Given the description of an element on the screen output the (x, y) to click on. 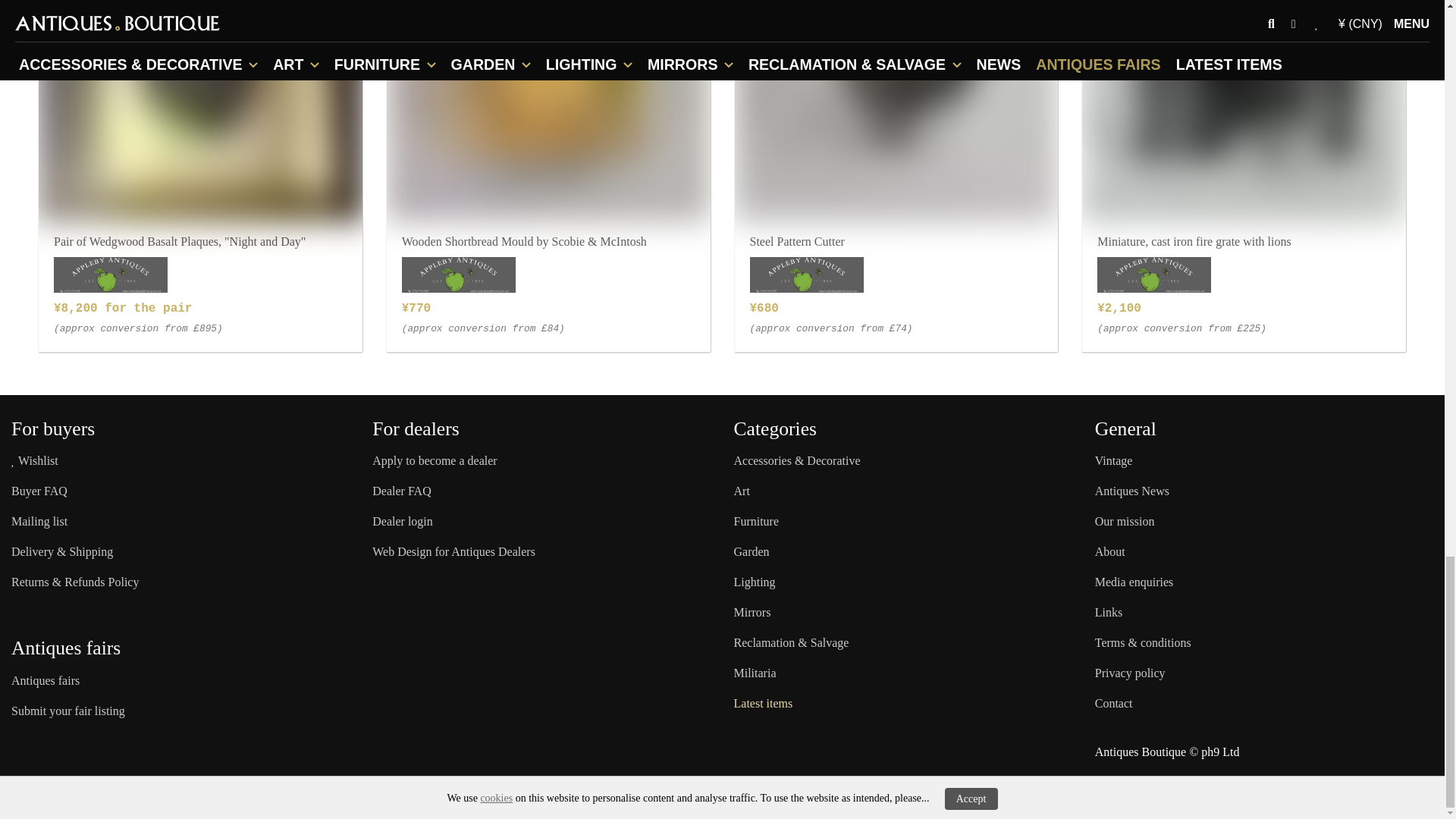
Steel Pattern Cutter (895, 110)
Pair of Wedgwood Basalt Plaques, "Night and Day" (200, 110)
Miniature, cast iron fire grate with lions (1243, 110)
